Given the description of an element on the screen output the (x, y) to click on. 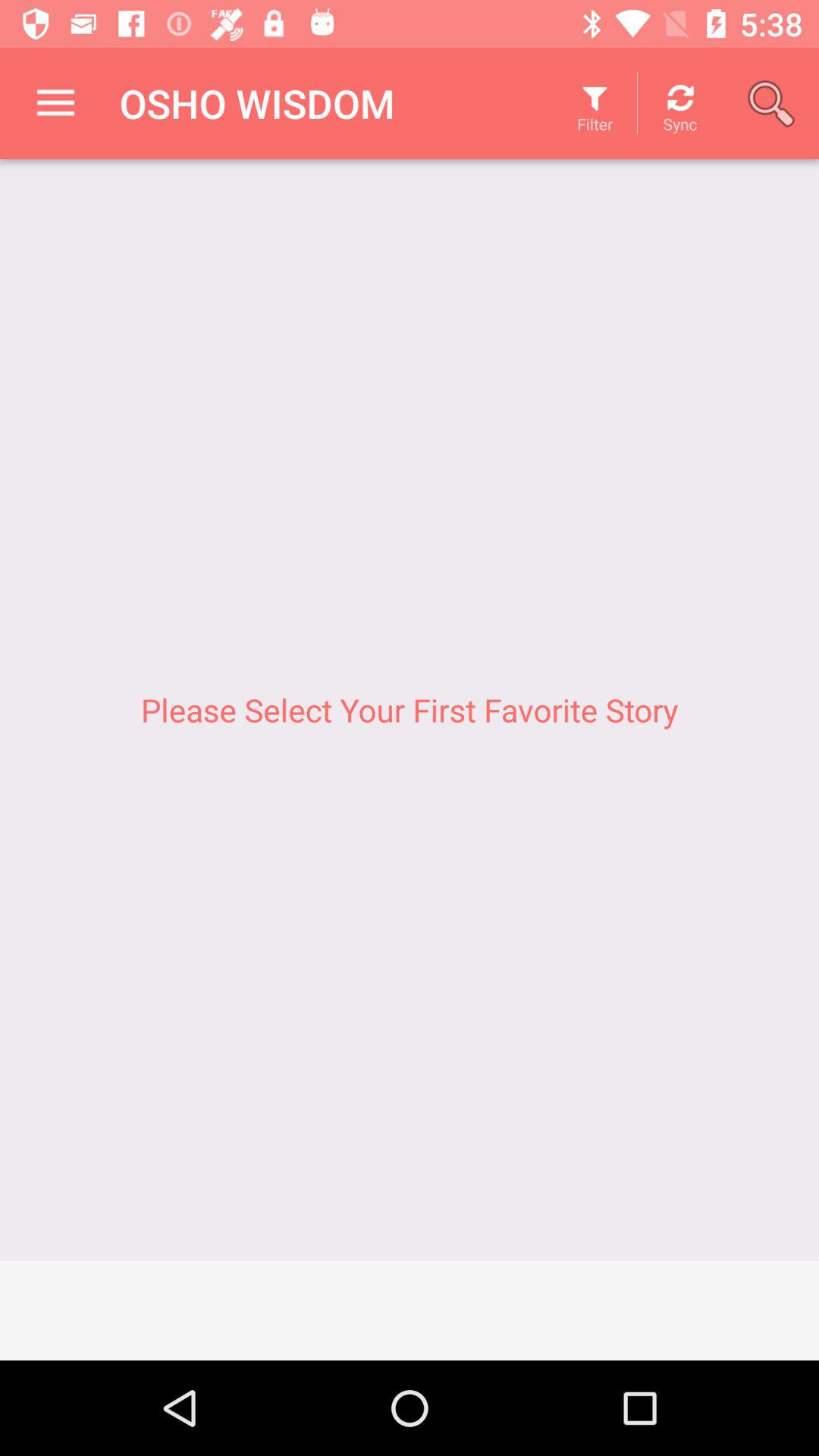
select item next to osho wisdom icon (55, 103)
